Given the description of an element on the screen output the (x, y) to click on. 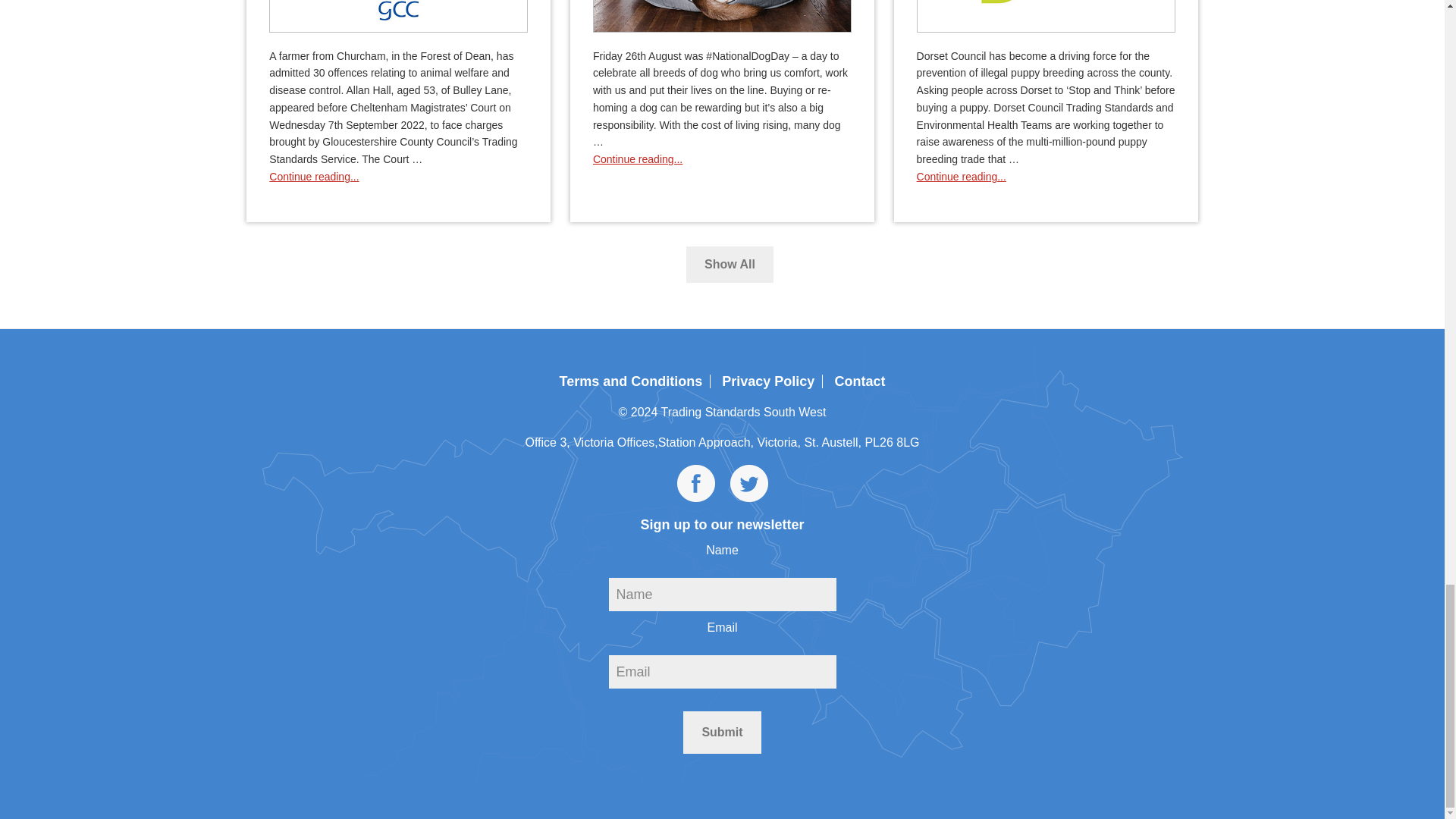
Submit (721, 732)
